Given the description of an element on the screen output the (x, y) to click on. 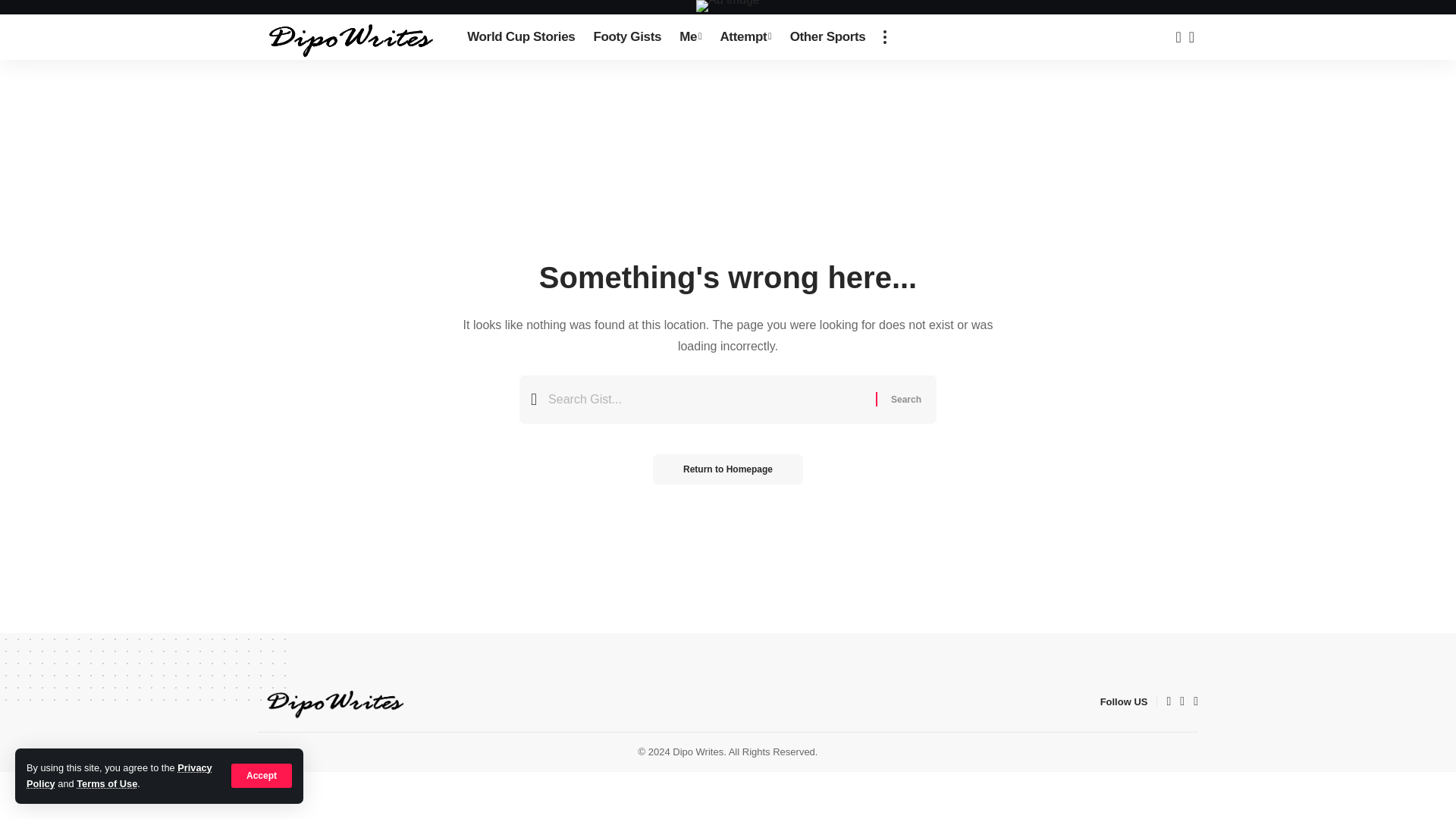
Attempt (745, 36)
World Cup Stories (520, 36)
Search (906, 399)
Return to Homepage (727, 469)
Footy Gists (626, 36)
Dipo Writes - Sport, Gist, Podcast, News, Blogging (349, 36)
Other Sports (827, 36)
Search (906, 399)
